Given the description of an element on the screen output the (x, y) to click on. 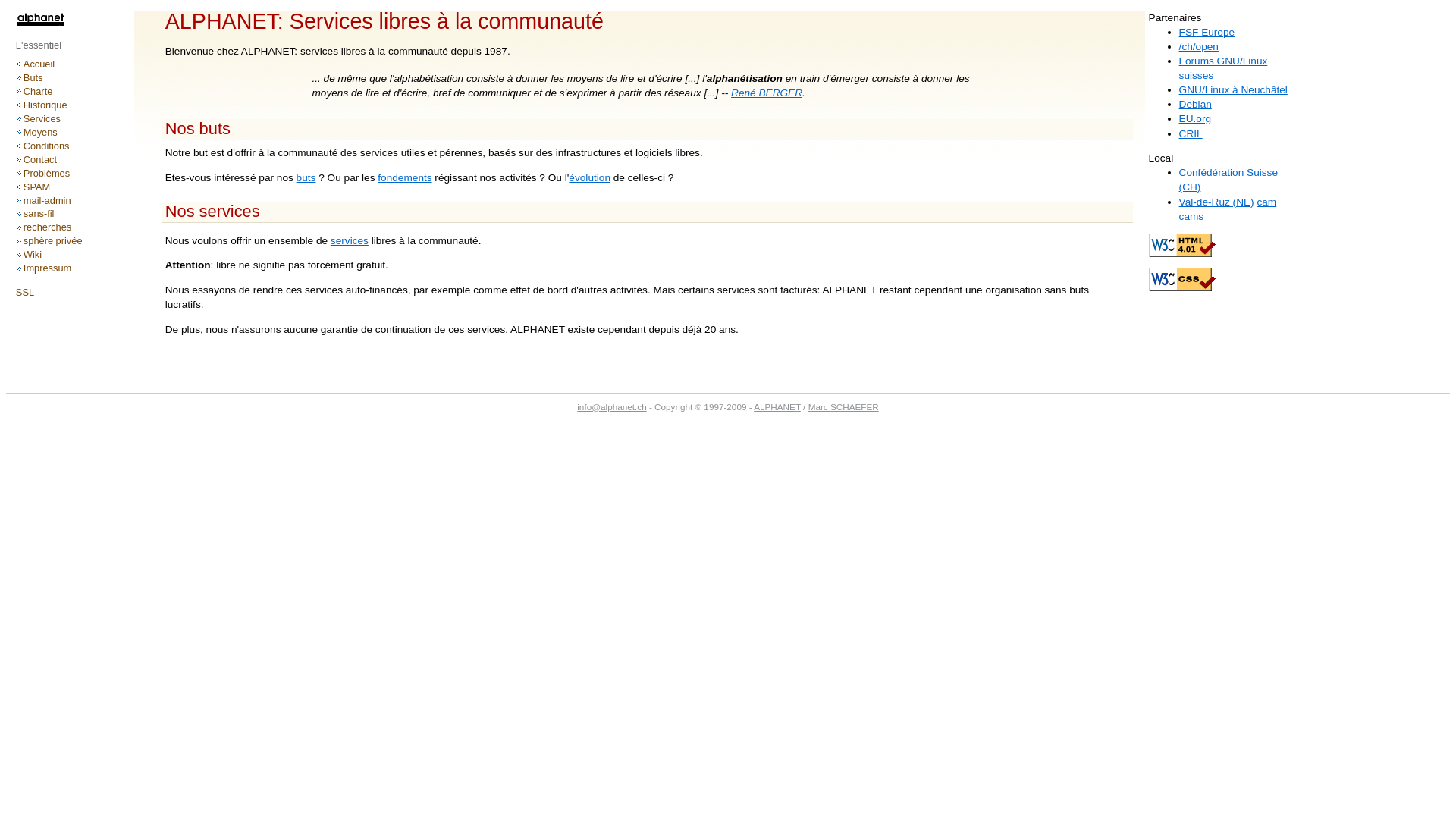
cam Element type: text (1266, 201)
Historique Element type: text (45, 104)
EU.org Element type: text (1195, 118)
SPAM Element type: text (36, 186)
Charte Element type: text (38, 91)
Buts Element type: text (33, 77)
Wiki Element type: text (32, 254)
sans-fil Element type: text (38, 213)
Debian Element type: text (1195, 103)
cams Element type: text (1191, 216)
services Element type: text (349, 240)
CRIL Element type: text (1190, 133)
Forums GNU/Linux suisses Element type: text (1223, 68)
fondements Element type: text (404, 177)
Impressum Element type: text (47, 267)
mail-admin Element type: text (47, 200)
Conditions Element type: text (46, 145)
/ch/open Element type: text (1198, 46)
Services Element type: text (41, 118)
Contact Element type: text (39, 159)
FSF Europe Element type: text (1207, 31)
Moyens Element type: text (40, 132)
buts Element type: text (306, 177)
recherches Element type: text (47, 226)
ALPHANET Element type: text (776, 406)
SSL Element type: text (24, 292)
Marc SCHAEFER Element type: text (843, 406)
Accueil Element type: text (38, 63)
Val-de-Ruz (NE) Element type: text (1216, 201)
info@alphanet.ch Element type: text (611, 406)
